Given the description of an element on the screen output the (x, y) to click on. 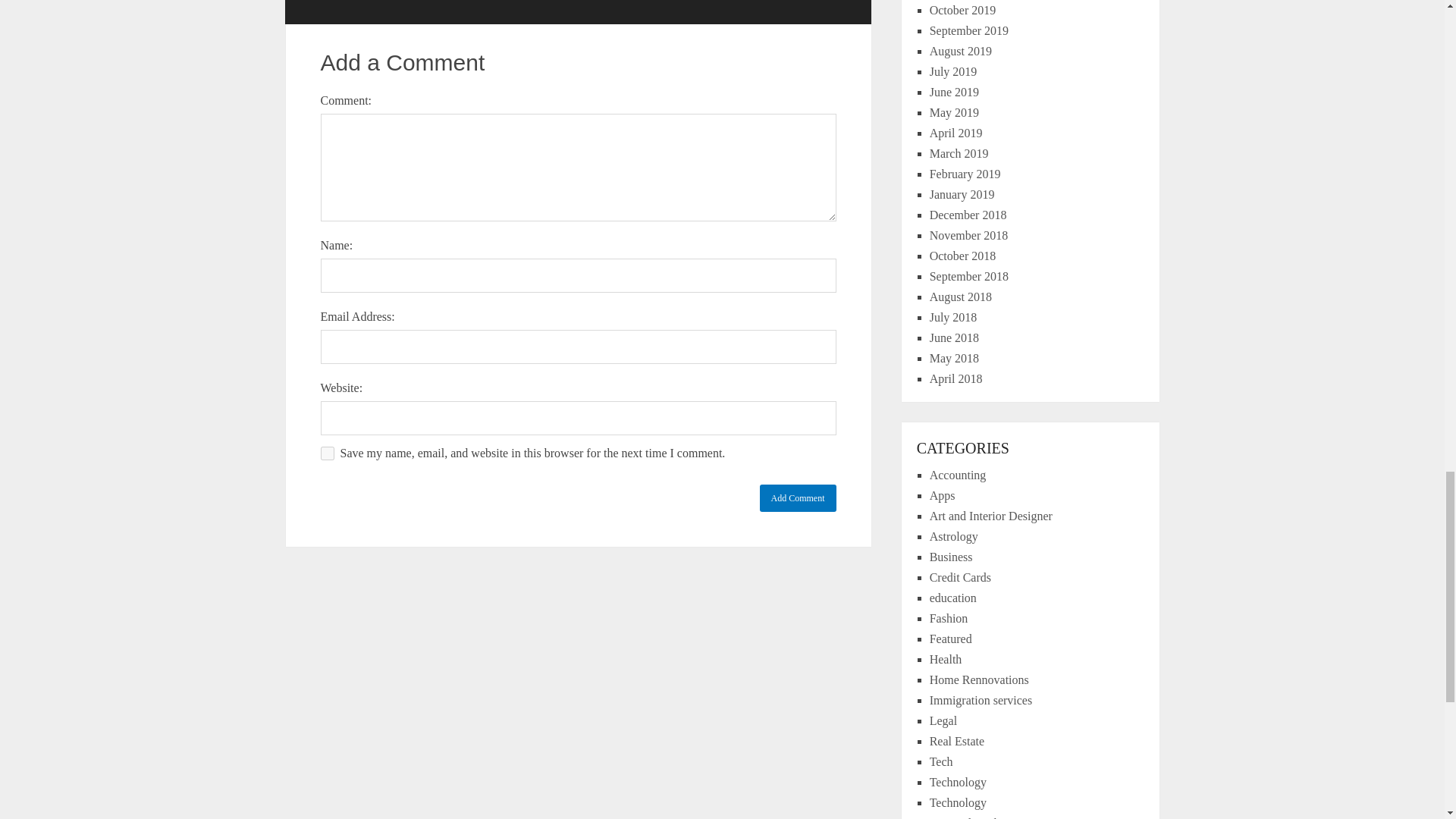
Add Comment (797, 497)
Add Comment (797, 497)
yes (326, 453)
